Given the description of an element on the screen output the (x, y) to click on. 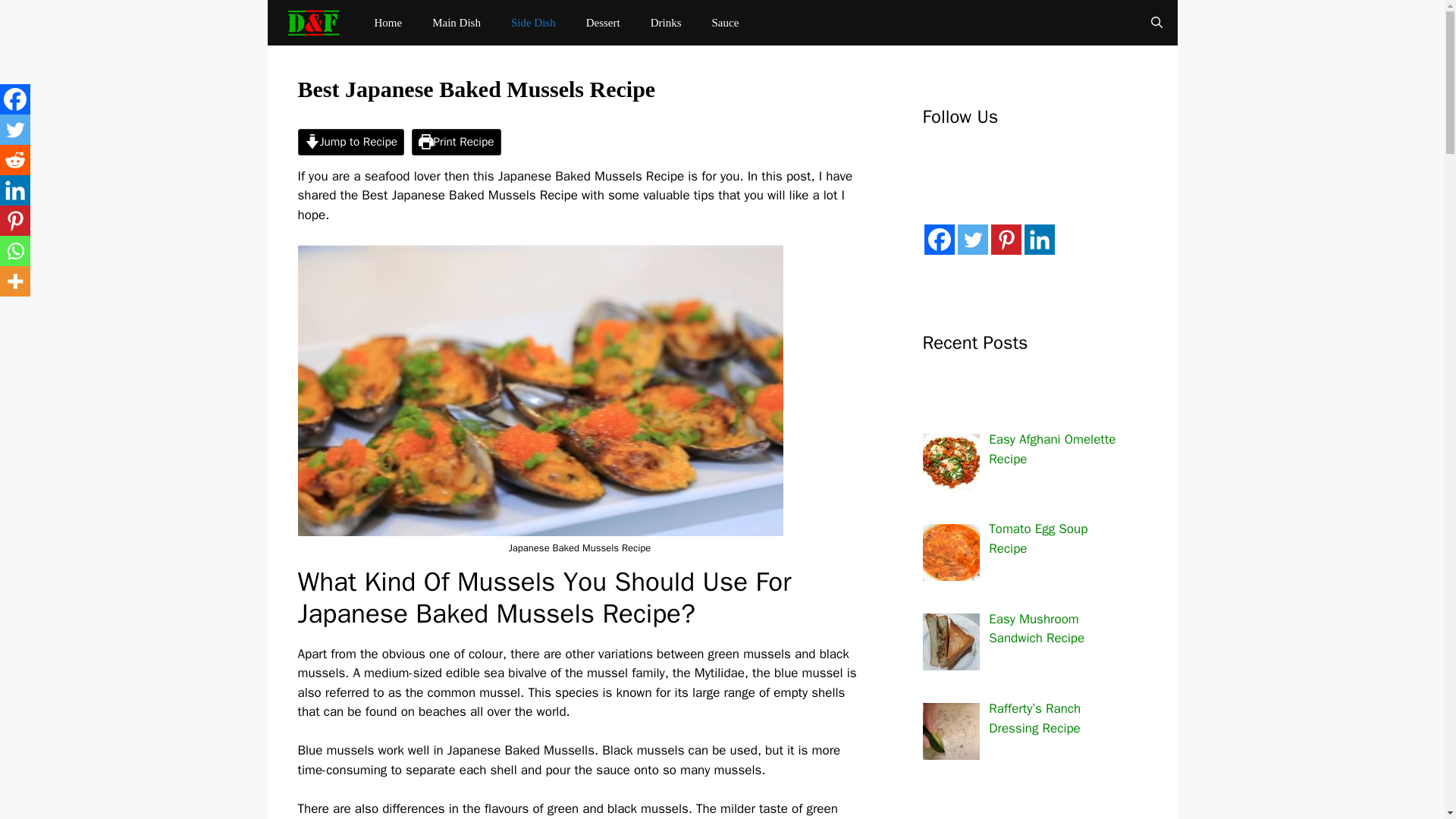
Side Dish (533, 22)
Facebook (15, 99)
Dessert (602, 22)
Print Recipe (456, 141)
Main Dish (456, 22)
Jump to Recipe (350, 141)
Home (388, 22)
Drinks (665, 22)
Reddit (15, 159)
Twitter (15, 129)
Linkedin (15, 190)
Sauce (725, 22)
